Given the description of an element on the screen output the (x, y) to click on. 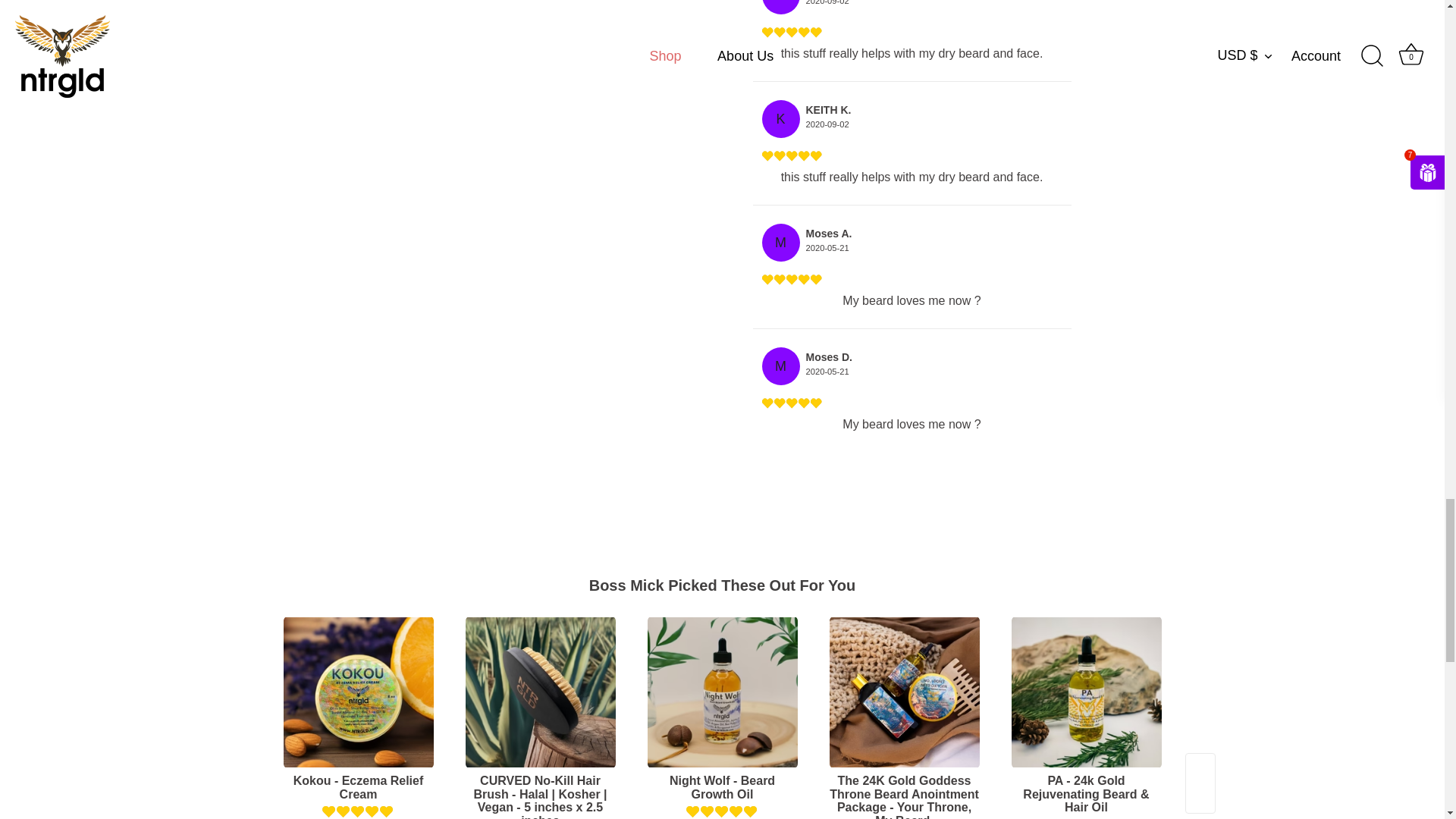
Kokou - Eczema Relief Cream (358, 692)
Night Wolf - Beard Growth Oil (722, 692)
